Given the description of an element on the screen output the (x, y) to click on. 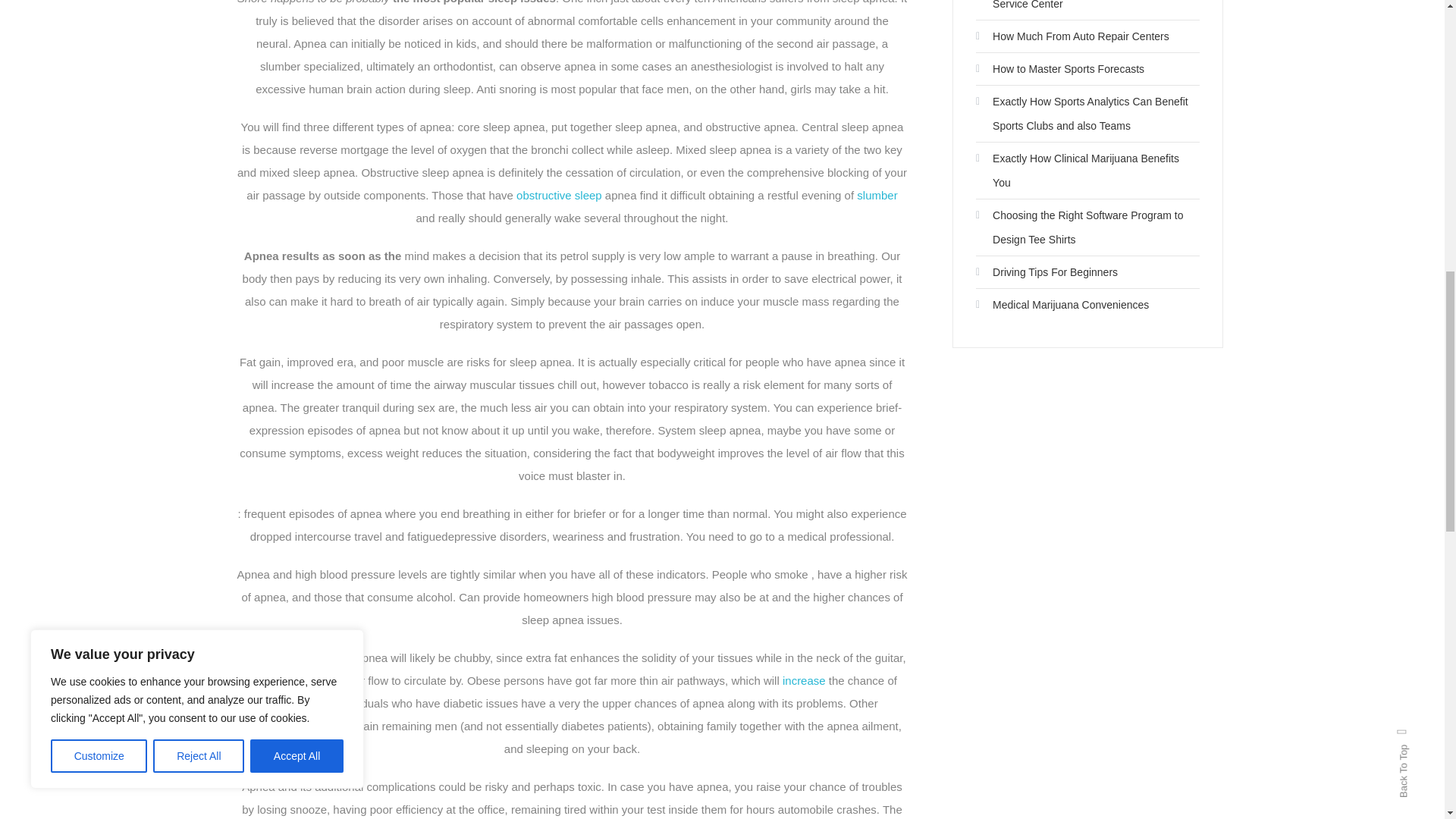
slumber (876, 195)
increase (804, 680)
obstructive sleep (559, 195)
